Given the description of an element on the screen output the (x, y) to click on. 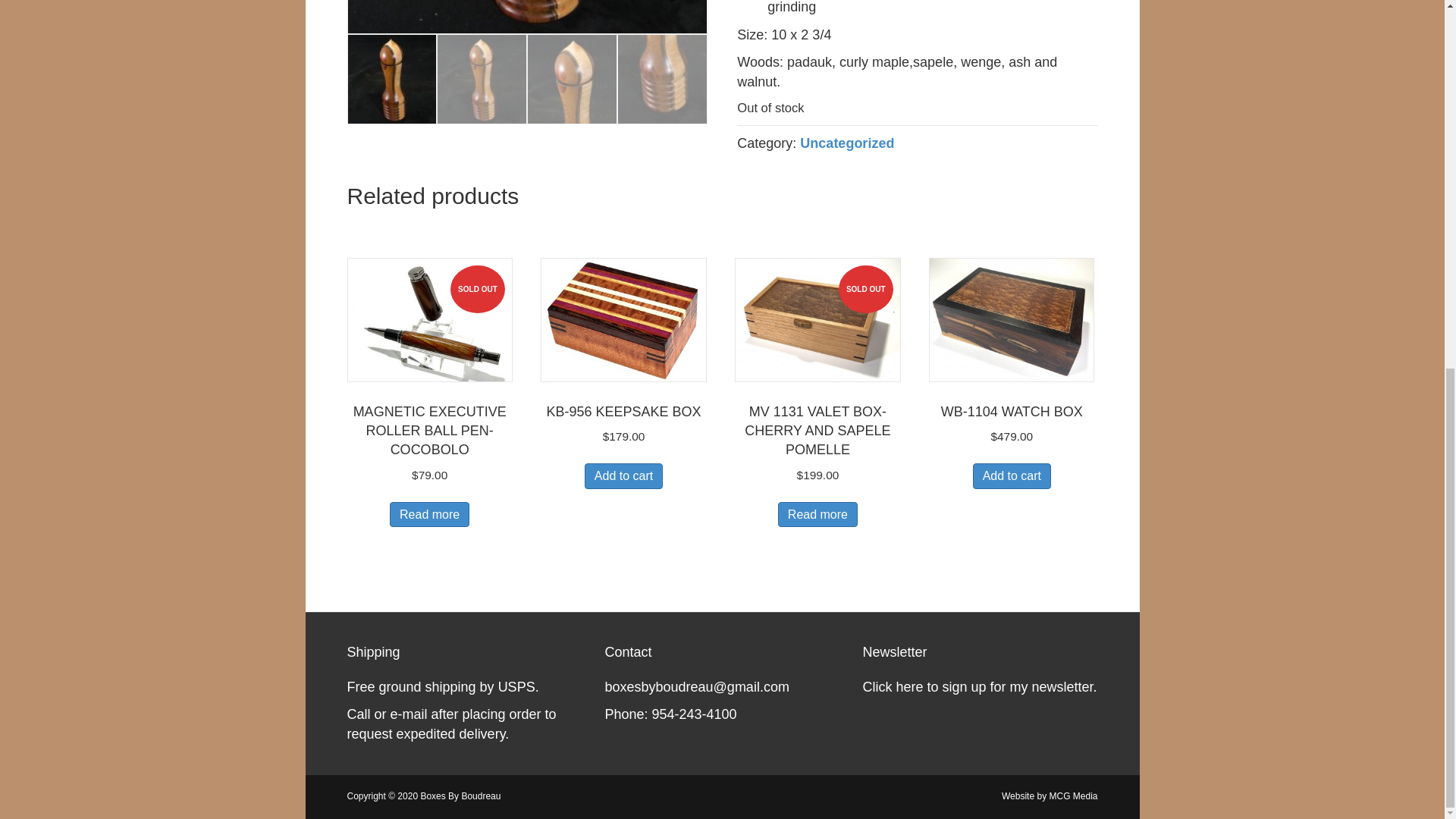
Read more (429, 514)
Uncategorized (846, 142)
PM-023 (527, 17)
Add to cart (623, 475)
